Given the description of an element on the screen output the (x, y) to click on. 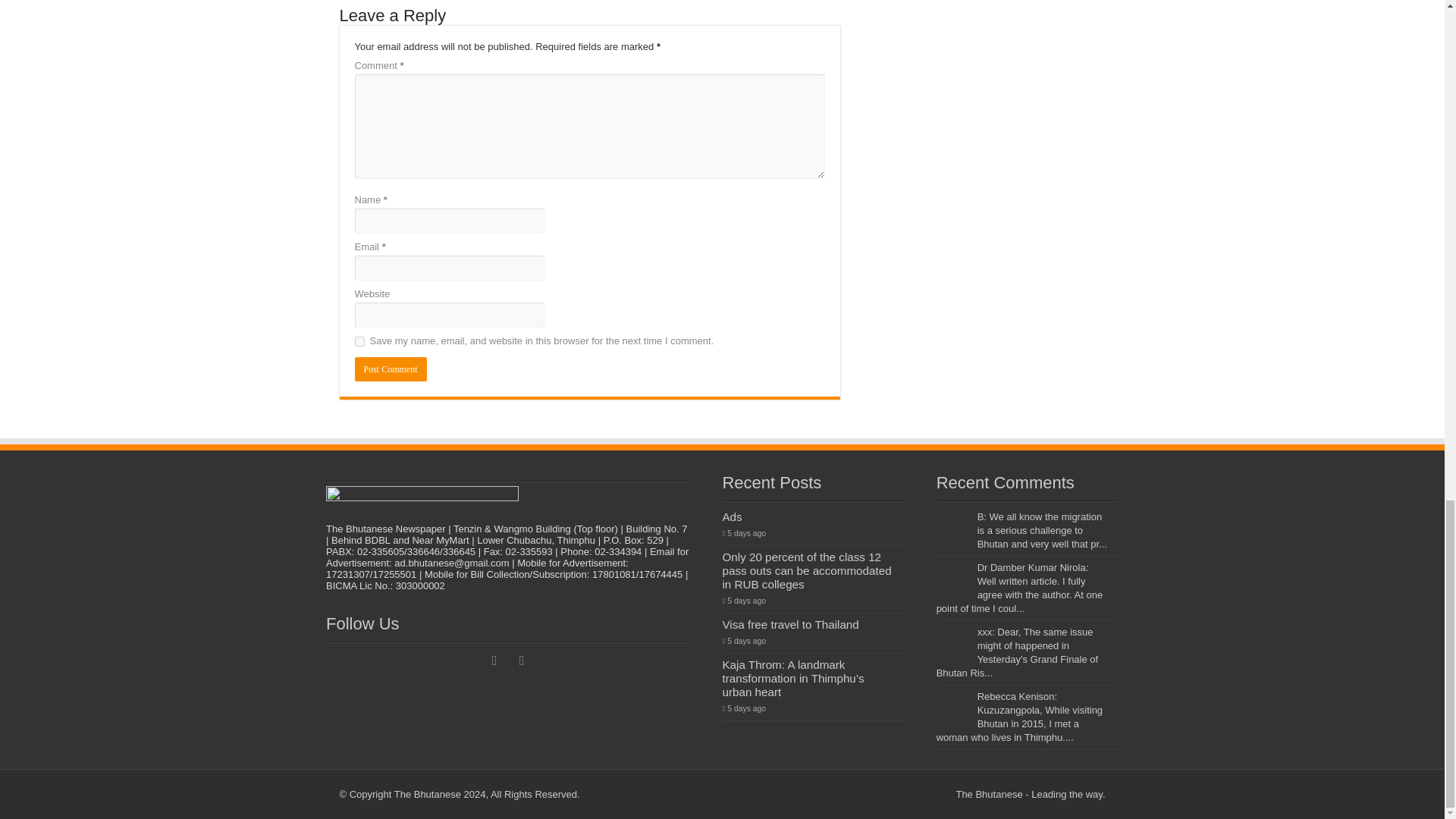
yes (360, 341)
Post Comment (390, 369)
